Given the description of an element on the screen output the (x, y) to click on. 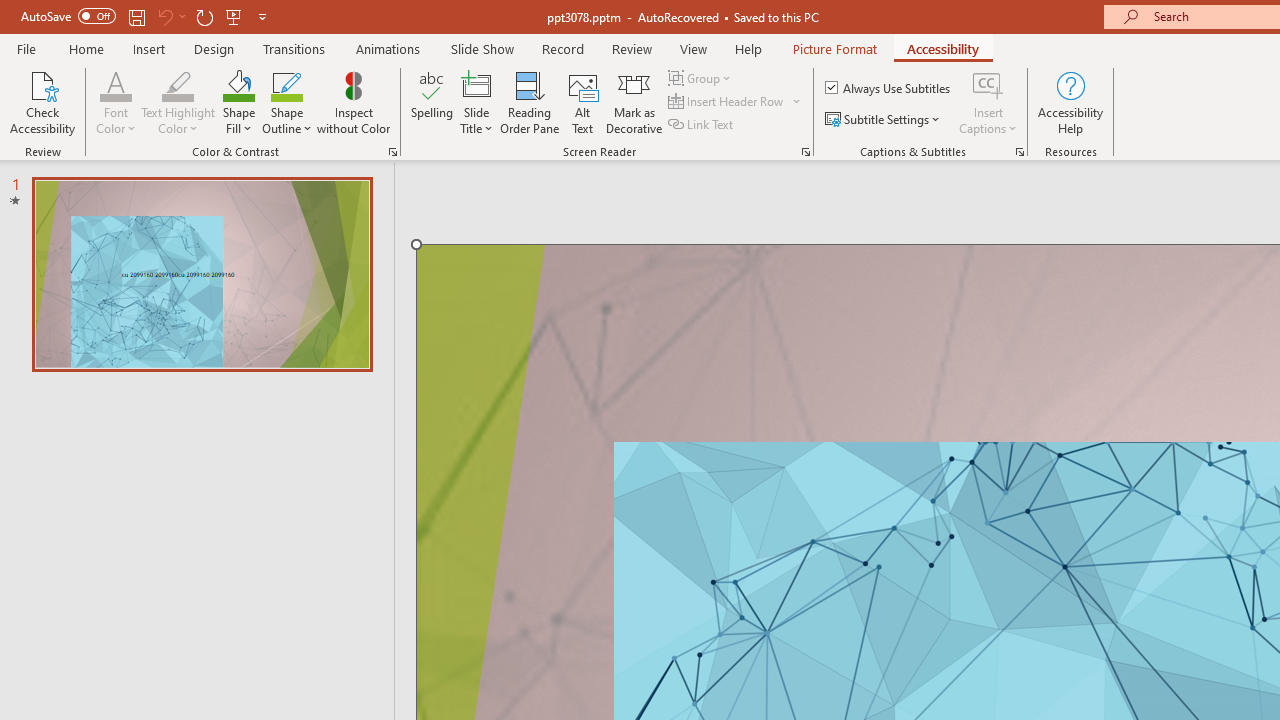
Color & Contrast (392, 151)
Mark as Decorative (634, 102)
Group (701, 78)
Link Text (702, 124)
